Given the description of an element on the screen output the (x, y) to click on. 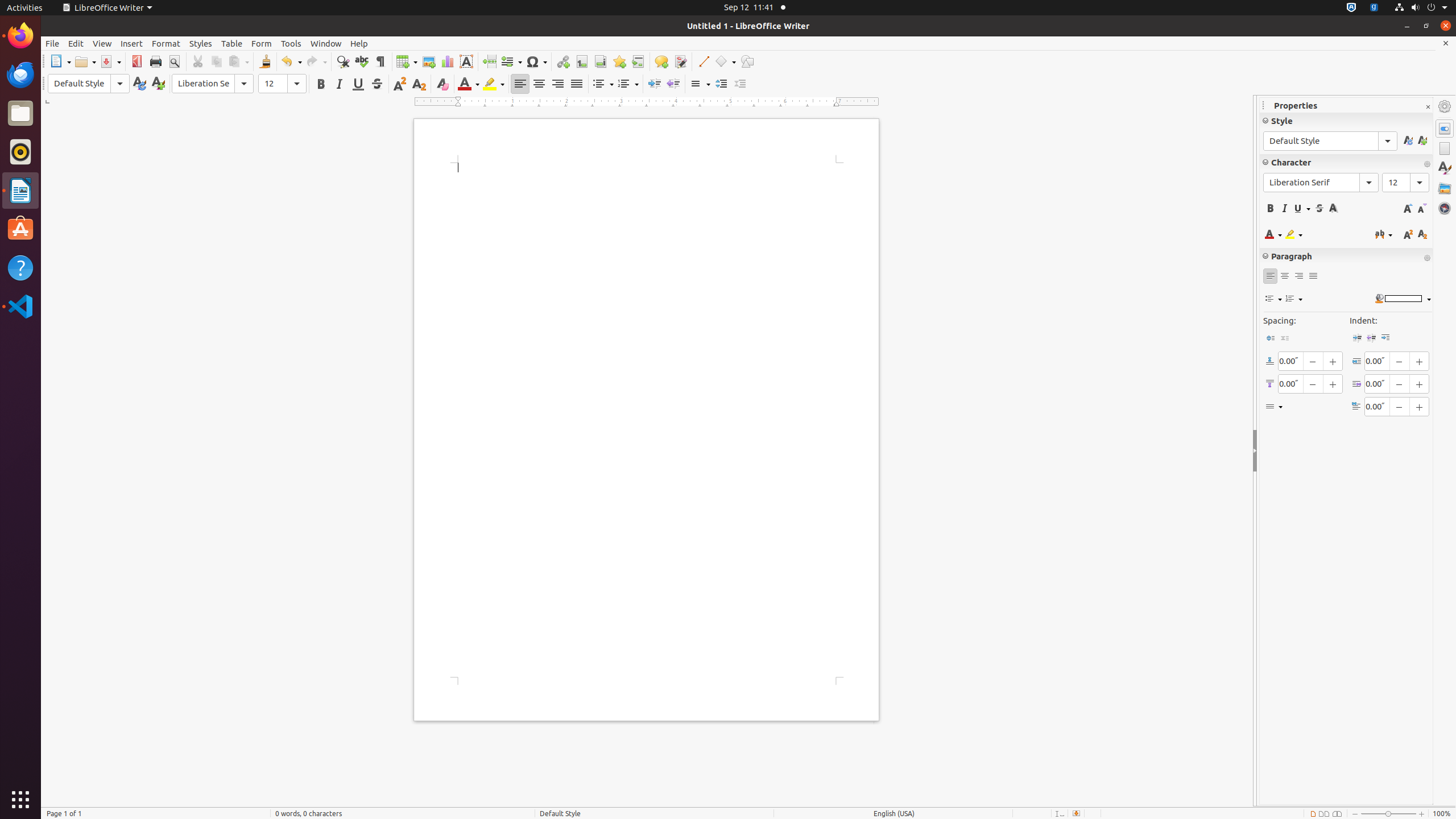
Gallery Element type: radio-button (1444, 188)
Help Element type: menu (358, 43)
System Element type: menu (1420, 7)
Navigator Element type: radio-button (1444, 208)
Superscript Element type: toggle-button (399, 83)
